Given the description of an element on the screen output the (x, y) to click on. 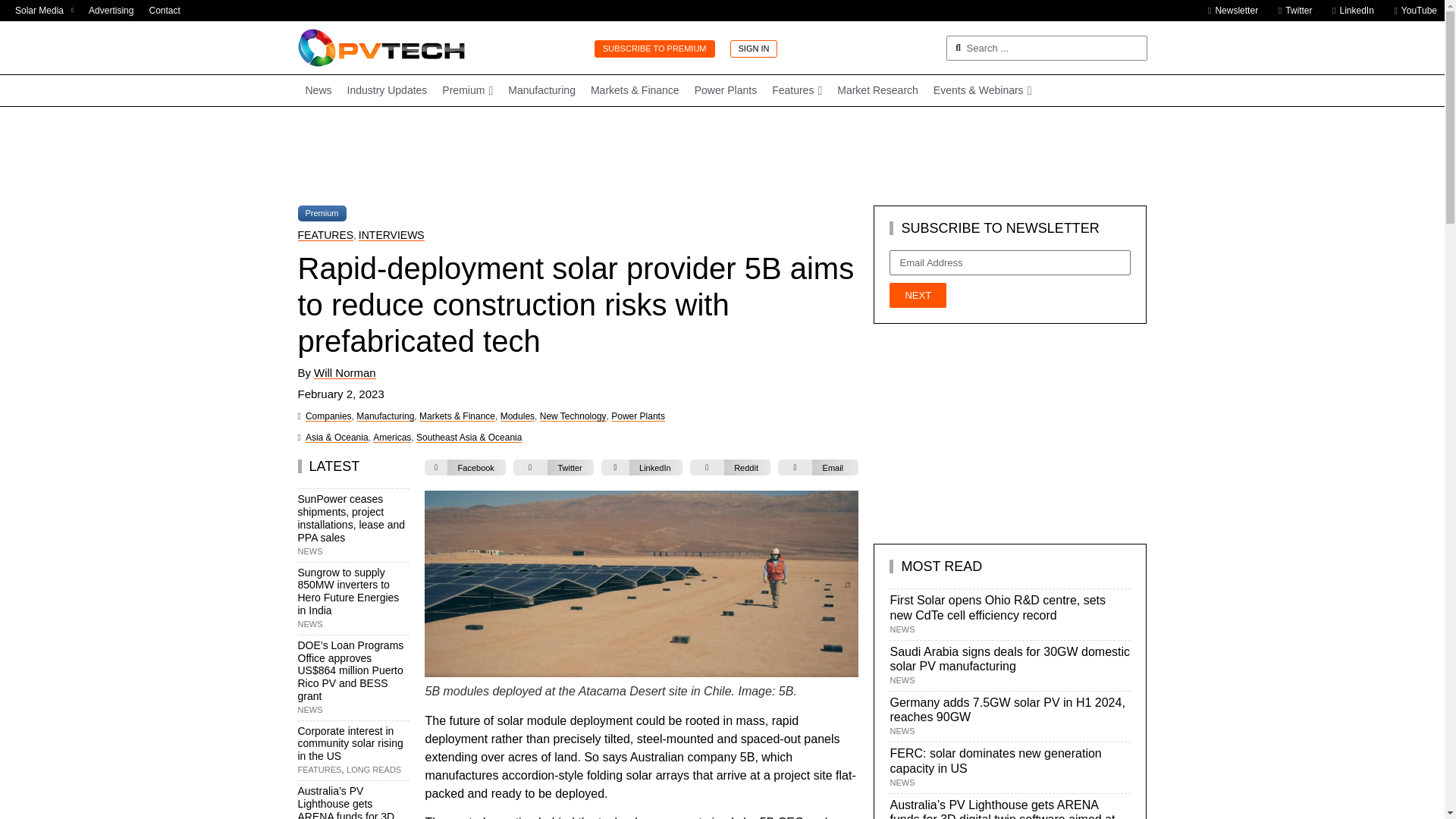
Advertising (111, 10)
Opens in a new window (1348, 10)
SUBSCRIBE TO PREMIUM (654, 48)
LinkedIn (1348, 10)
Premium (466, 90)
Contact (164, 10)
YouTube (1411, 10)
3rd party ad content (721, 156)
Twitter (1290, 10)
Solar Media (44, 10)
Opens in a new window (1290, 10)
SIGN IN (753, 48)
Newsletter (1228, 10)
Opens in a new window (44, 10)
News (318, 90)
